Given the description of an element on the screen output the (x, y) to click on. 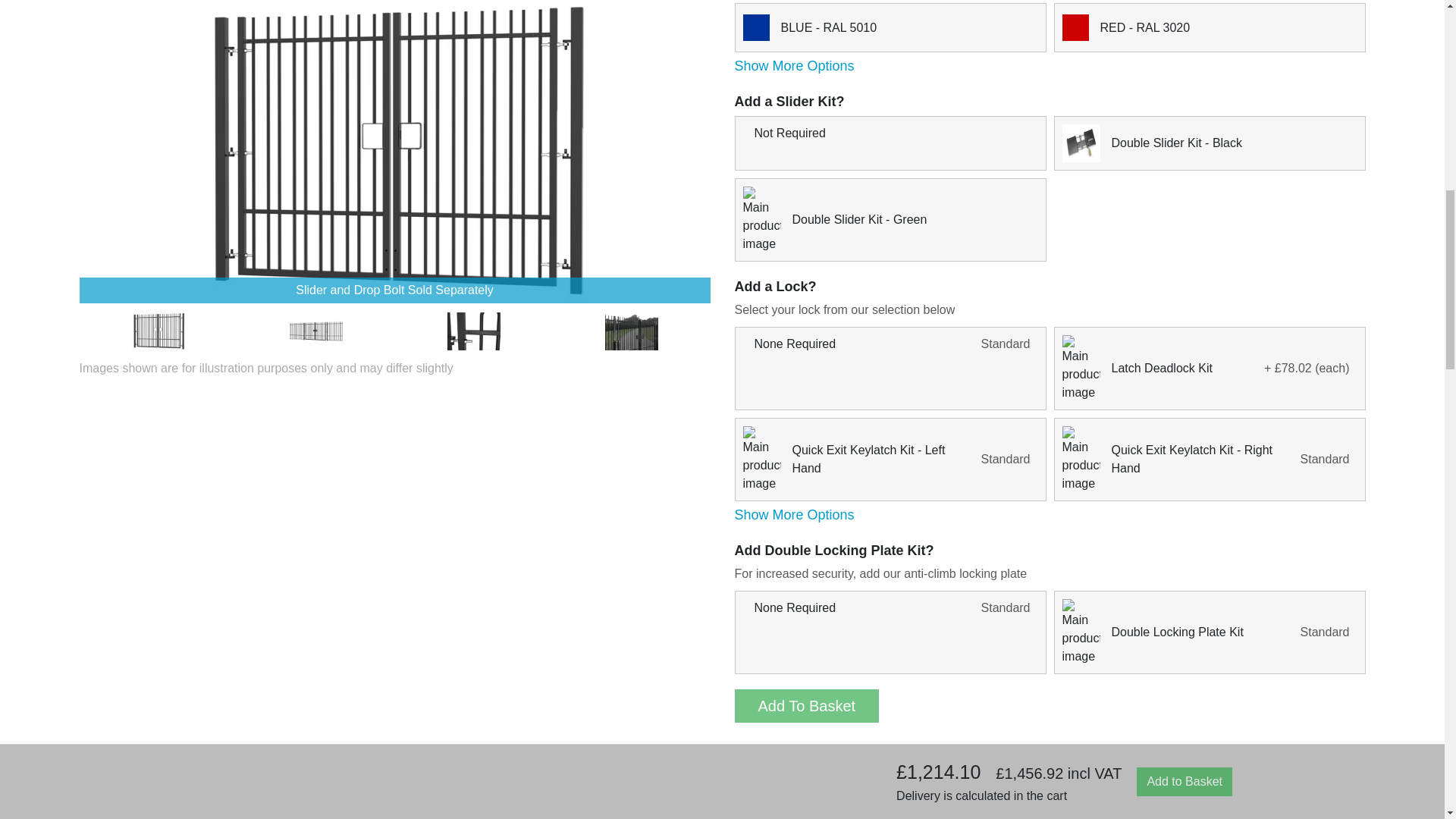
Add To Basket (806, 705)
